Given the description of an element on the screen output the (x, y) to click on. 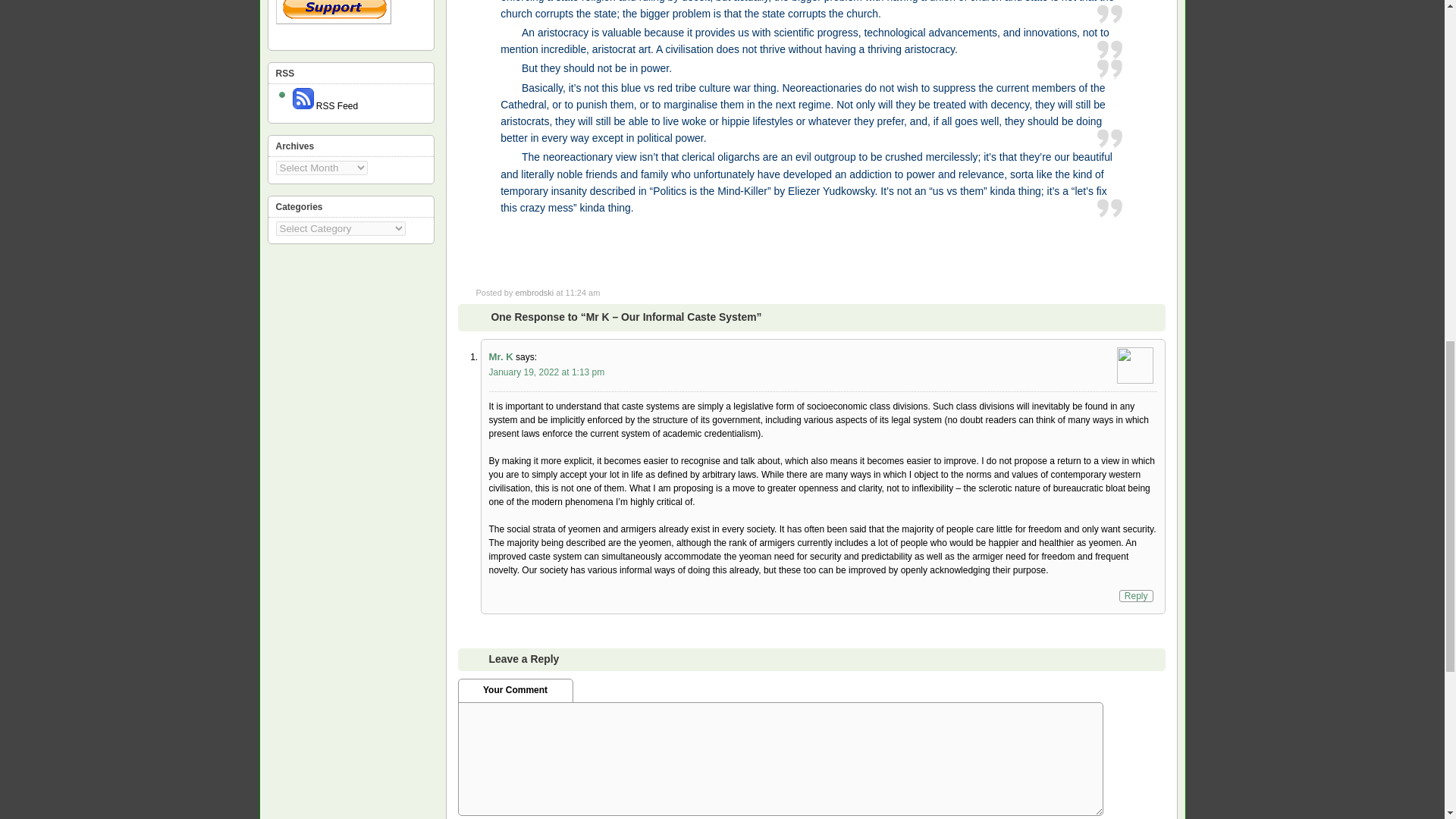
Reply (1136, 595)
embrodski (534, 292)
RSS Feed (325, 105)
January 19, 2022 at 1:13 pm (545, 371)
